Given the description of an element on the screen output the (x, y) to click on. 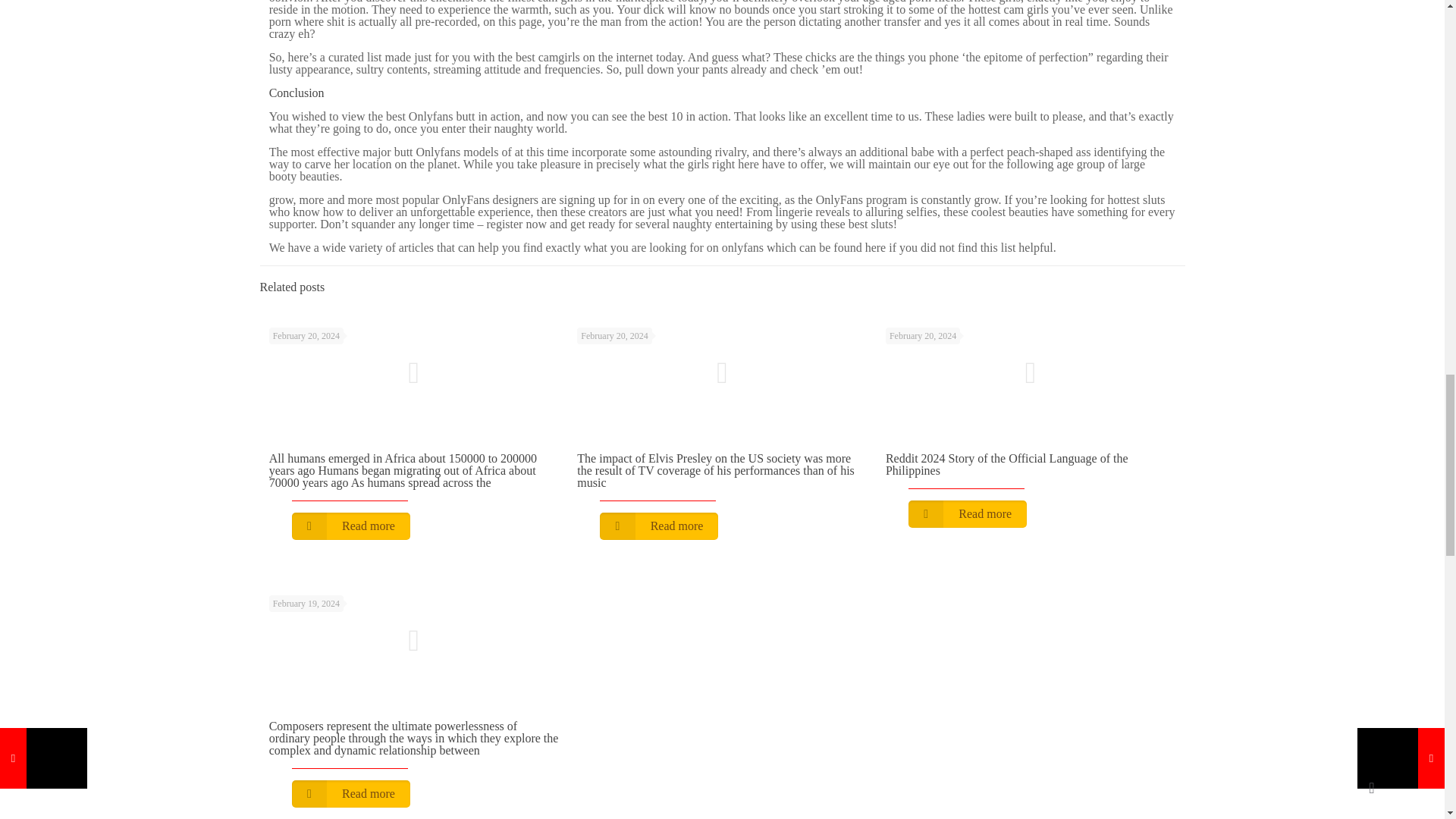
Read more (351, 793)
Read more (967, 513)
Read more (351, 525)
Read more (658, 525)
